Given the description of an element on the screen output the (x, y) to click on. 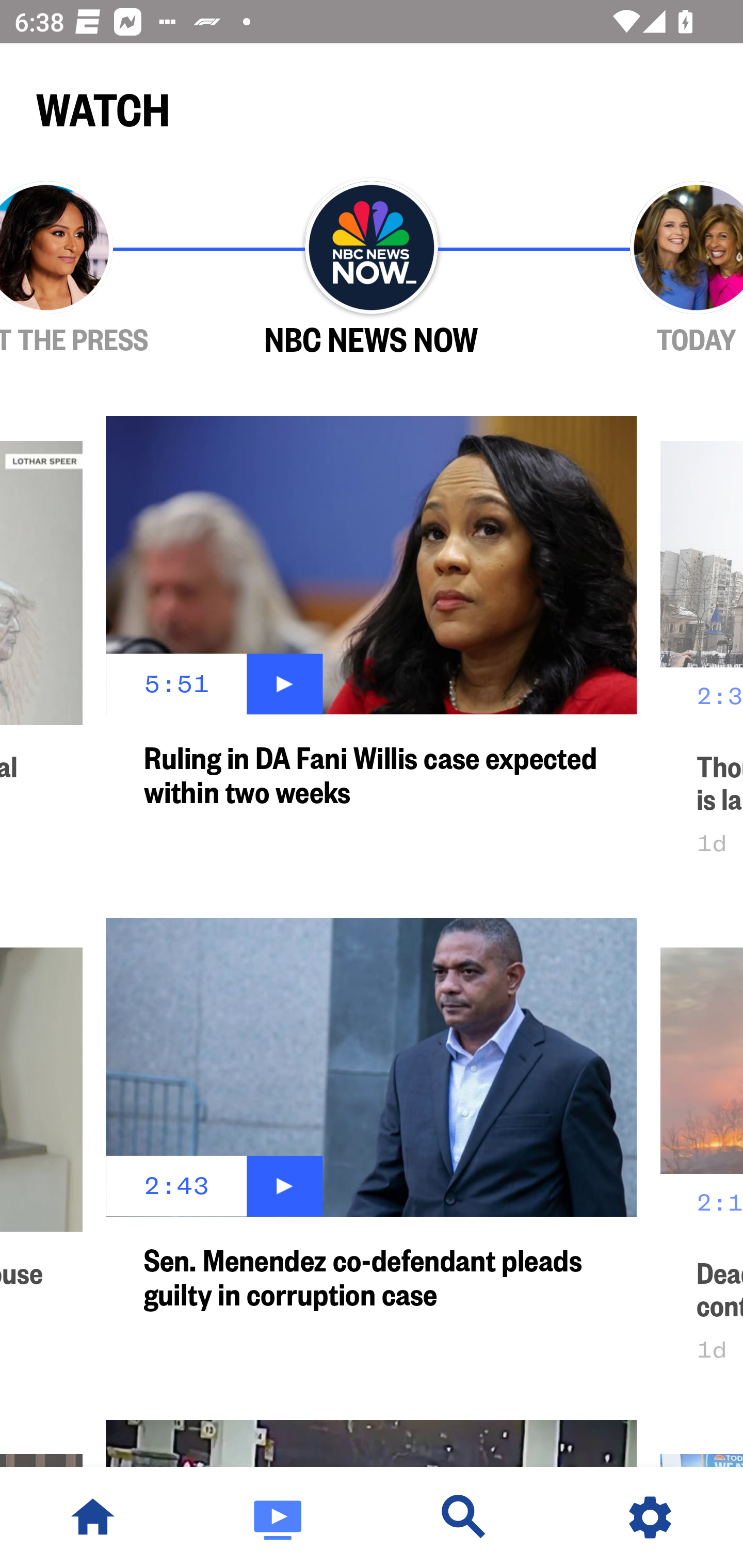
MEET THE PRESS (104, 268)
NBC NEWS NOW (371, 268)
TODAY (638, 268)
NBC News Home (92, 1517)
Discover (464, 1517)
Settings (650, 1517)
